Given the description of an element on the screen output the (x, y) to click on. 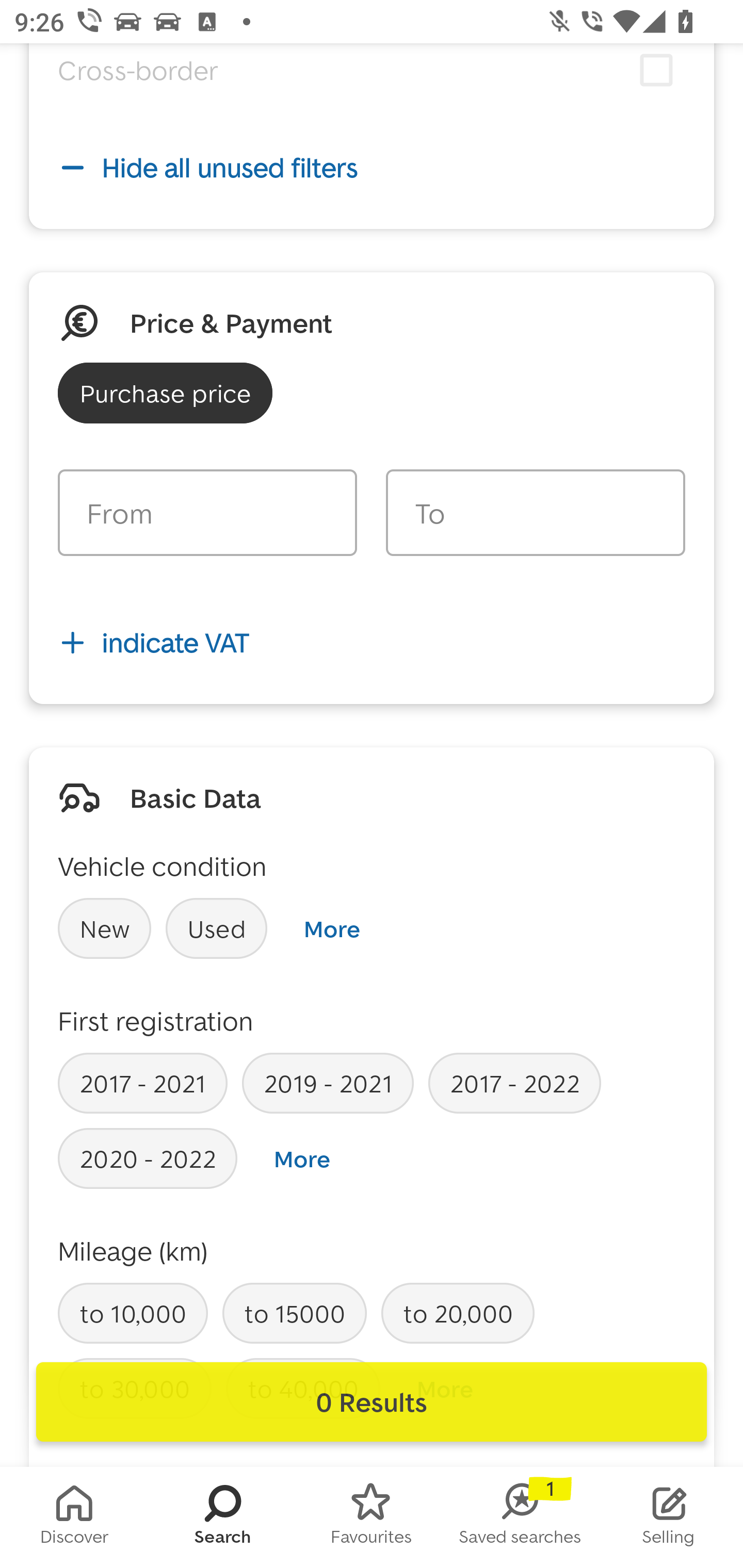
Cross-border Hide all unused filters (371, 141)
Hide all unused filters (371, 167)
Price & Payment (231, 322)
Purchase price (164, 392)
From (207, 512)
To (535, 512)
indicate VAT (371, 642)
Basic Data (195, 797)
Vehicle condition (161, 865)
New (103, 928)
Used (216, 928)
More (331, 928)
First registration (155, 1020)
2017 - 2021 (142, 1082)
2019 - 2021 (327, 1082)
2017 - 2022 (514, 1082)
2020 - 2022 (147, 1157)
More (301, 1158)
Mileage (km) (132, 1251)
to 10,000 (132, 1312)
to 15000 (294, 1312)
to 20,000 (457, 1312)
0 Results (371, 1401)
HOMESCREEN Discover (74, 1517)
SEARCH Search (222, 1517)
FAVORITES Favourites (371, 1517)
SAVED_SEARCHES Saved searches 1 (519, 1517)
STOCK_LIST Selling (668, 1517)
